Given the description of an element on the screen output the (x, y) to click on. 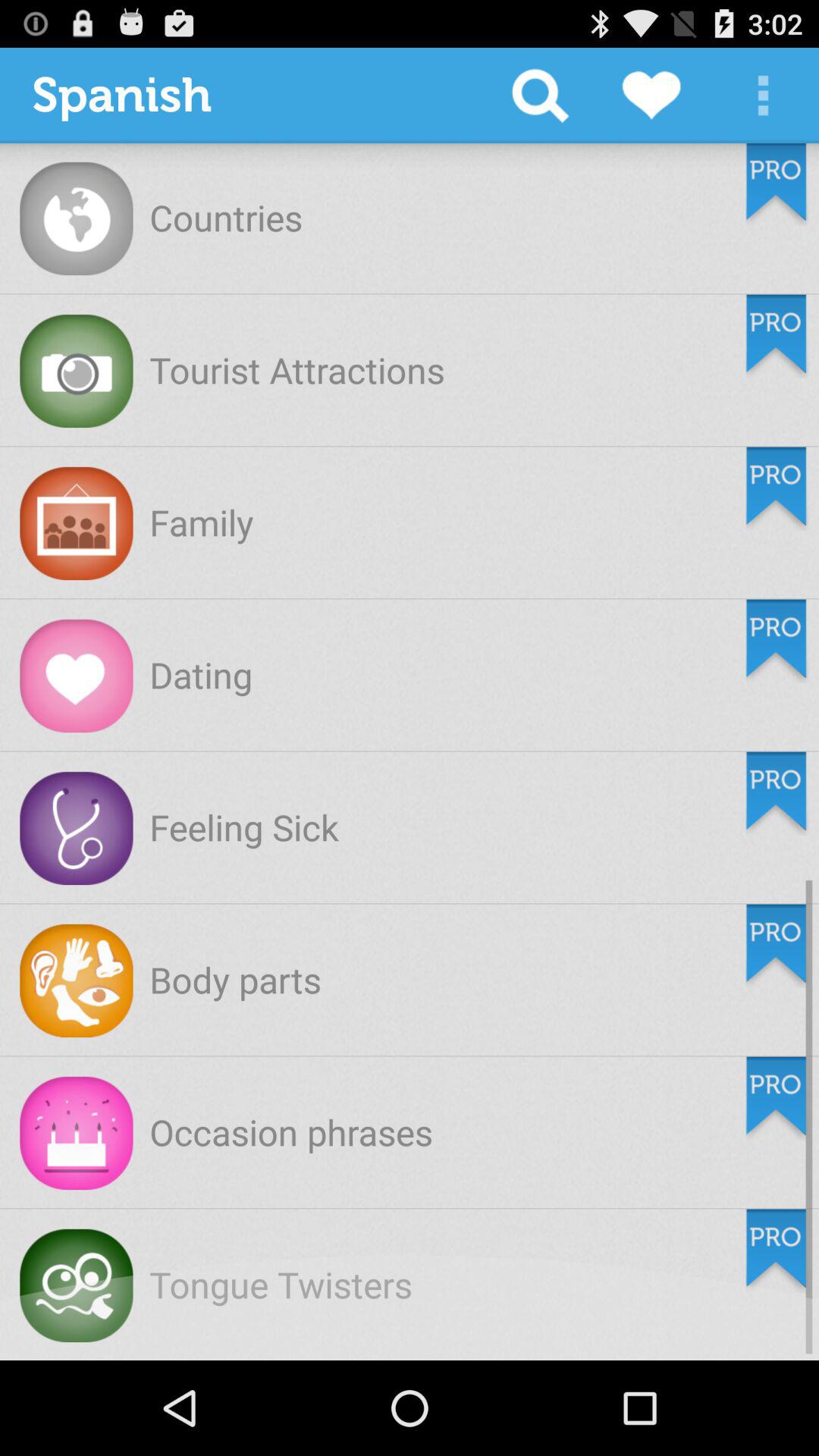
choose countries (225, 217)
